Given the description of an element on the screen output the (x, y) to click on. 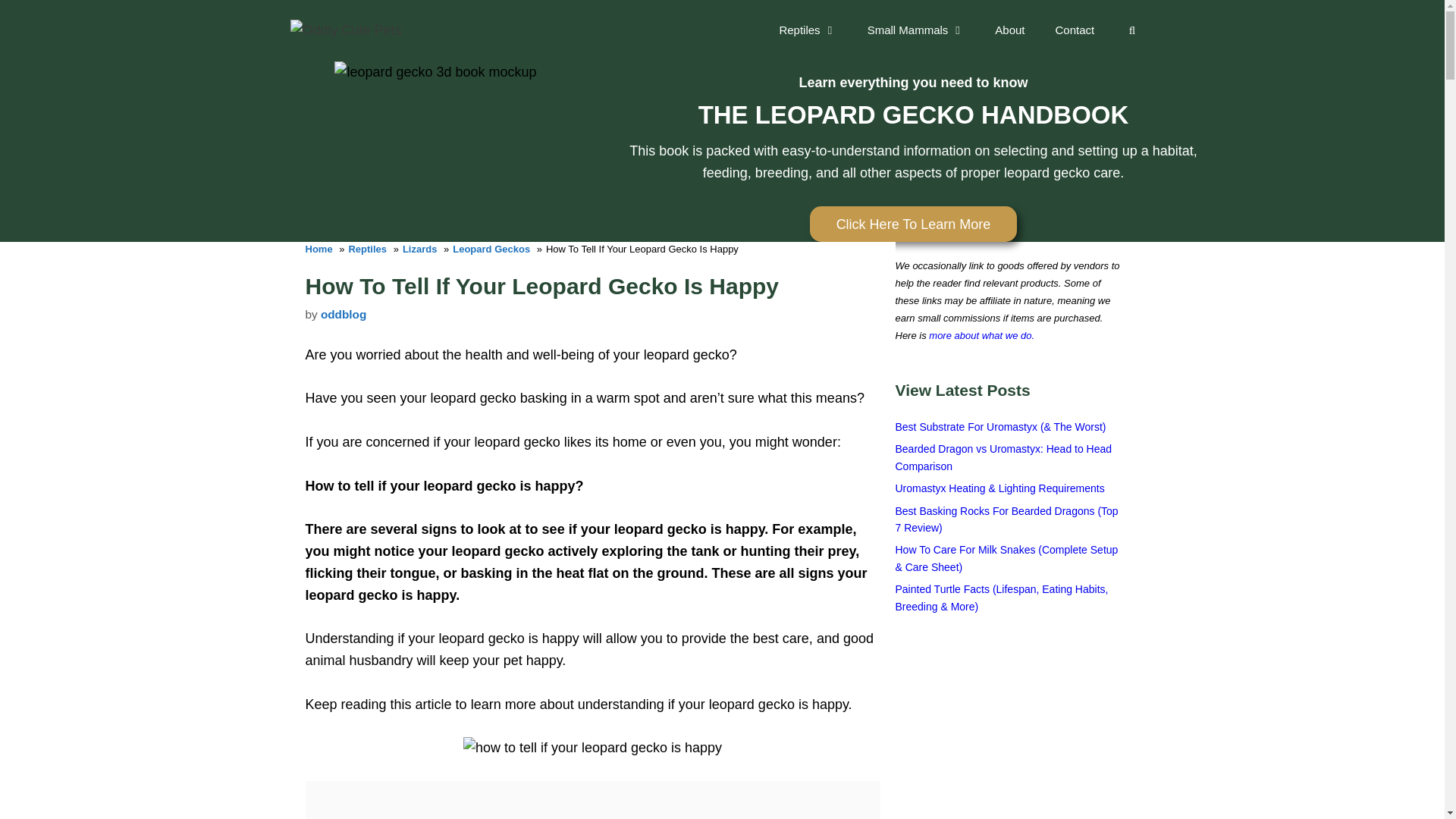
Reptiles (806, 30)
Small Mammals (915, 30)
About (1009, 30)
View all posts by oddblog (343, 314)
